Given the description of an element on the screen output the (x, y) to click on. 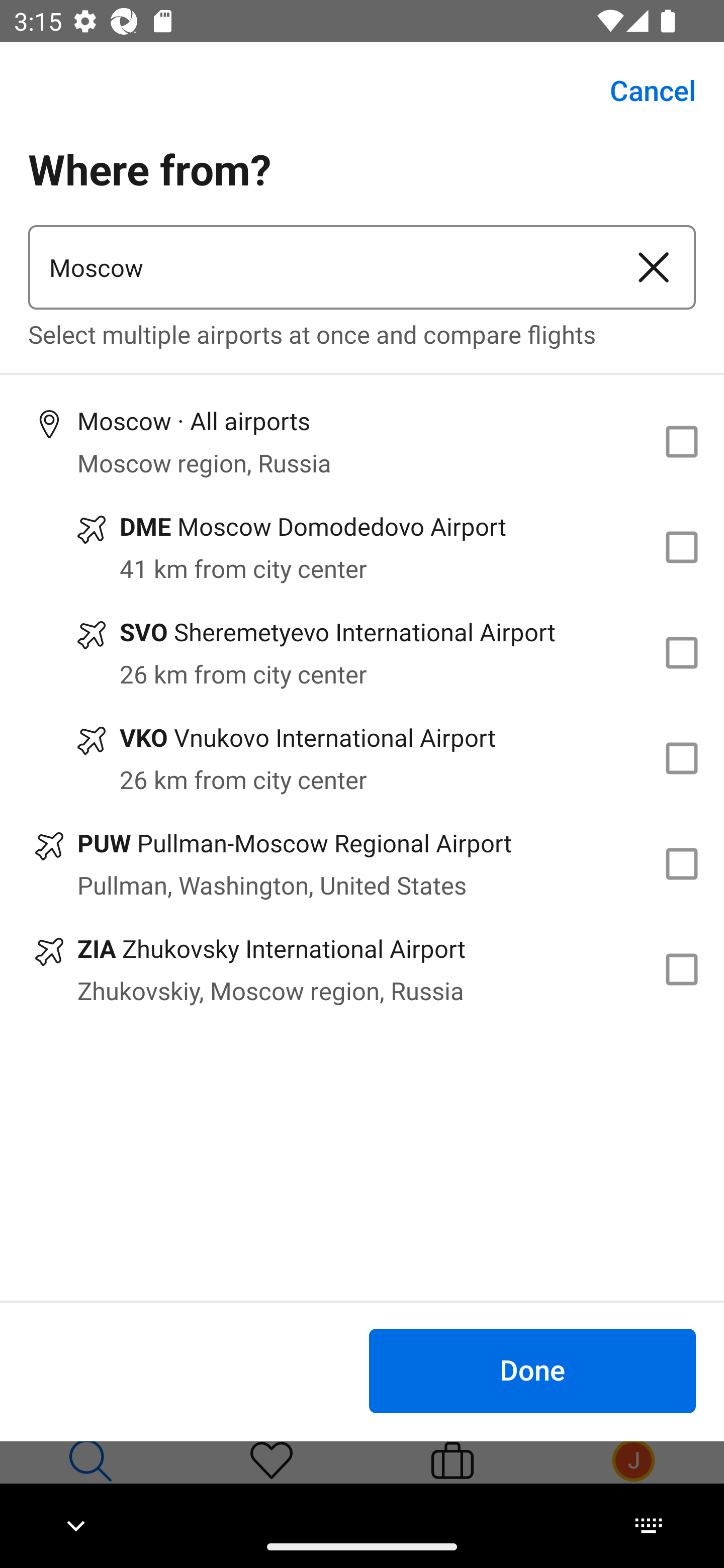
Cancel (641, 90)
Moscow (319, 266)
Clear airport or city (653, 266)
Moscow · All airports Moscow region, Russia (362, 440)
Done (532, 1370)
